Given the description of an element on the screen output the (x, y) to click on. 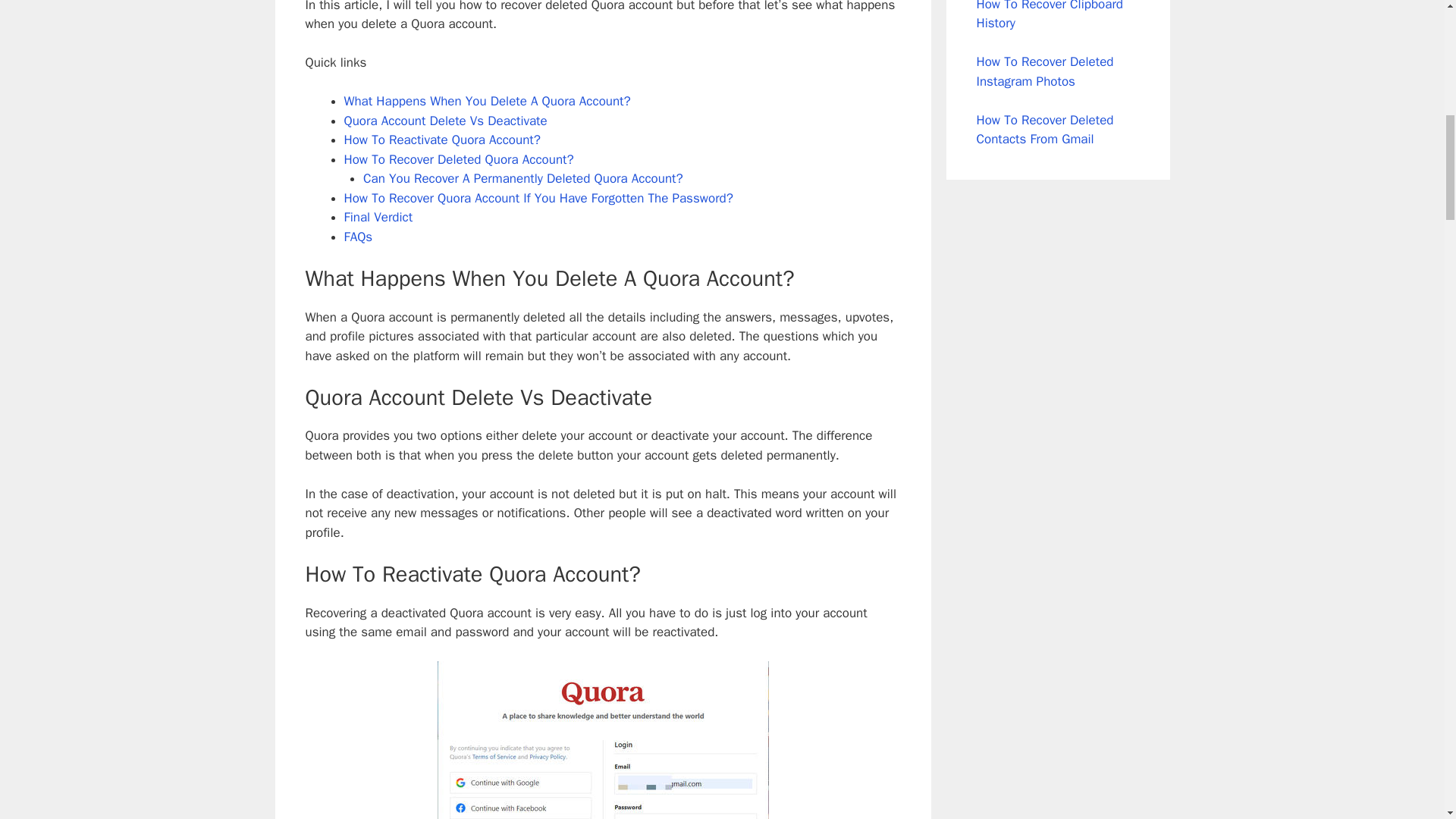
How To Recover Deleted Quora Account?  (460, 159)
Quora Account Delete Vs Deactivate (445, 120)
How To Reactivate Quora Account? (441, 139)
FAQs (357, 236)
What Happens When You Delete A Quora Account? (486, 100)
Final Verdict (378, 217)
Can You Recover A Permanently Deleted Quora Account? (522, 178)
